Given the description of an element on the screen output the (x, y) to click on. 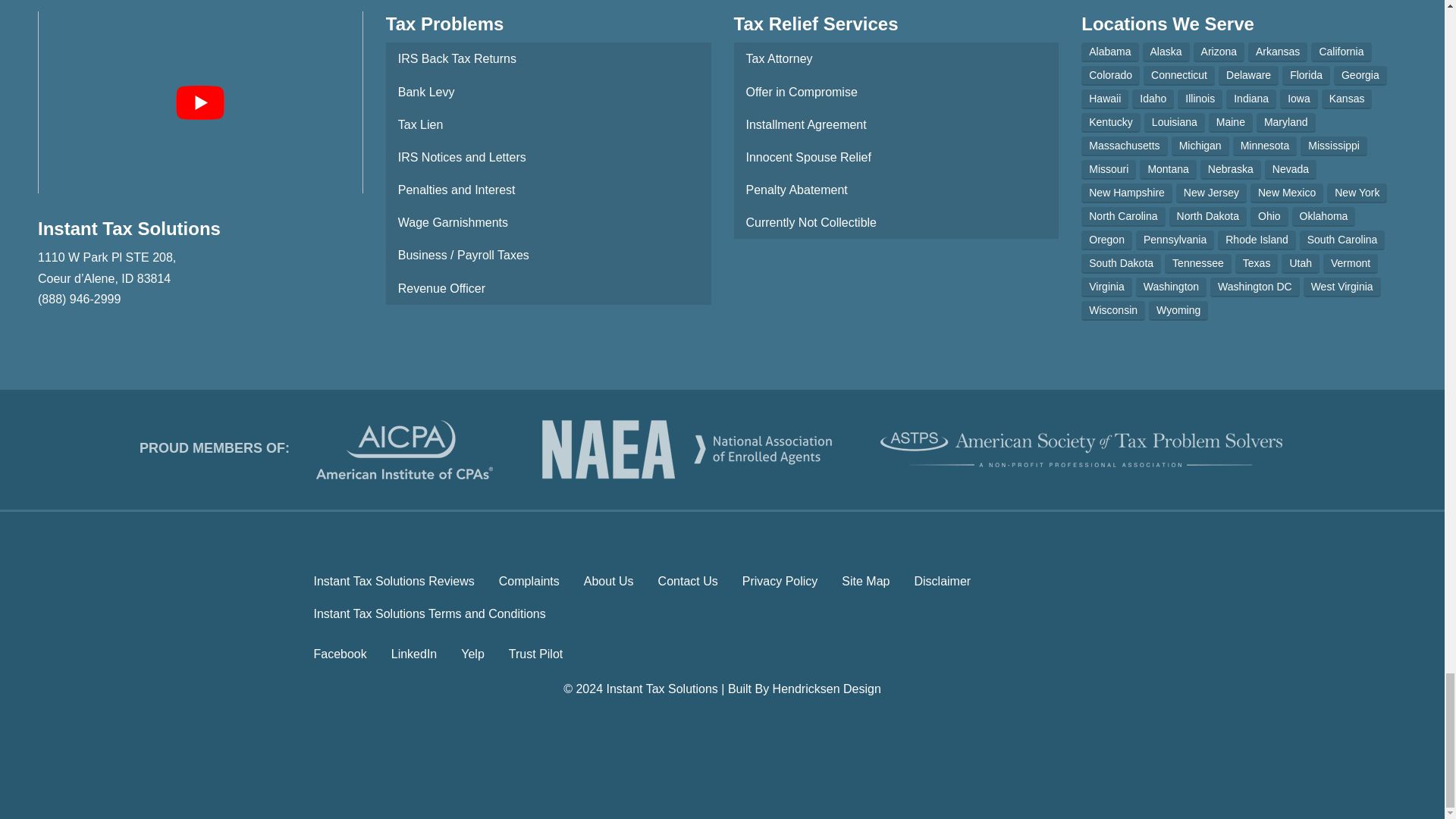
Arizona (1218, 52)
Alabama (1109, 52)
Alaska (1165, 52)
